Given the description of an element on the screen output the (x, y) to click on. 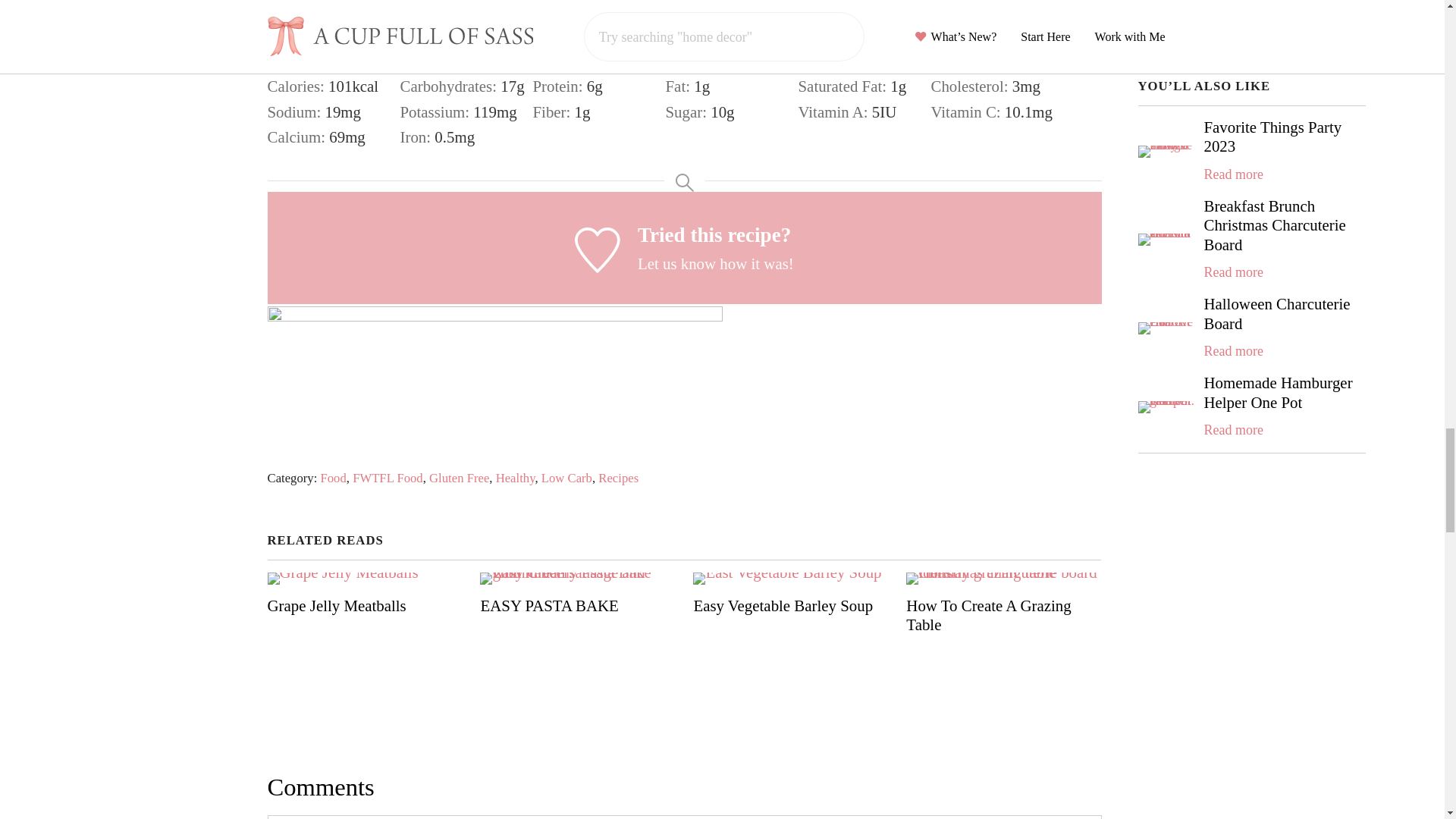
FWTFL Food (387, 477)
Gluten Free (459, 477)
Let us know (676, 263)
Food (333, 477)
Healthy (515, 477)
